Given the description of an element on the screen output the (x, y) to click on. 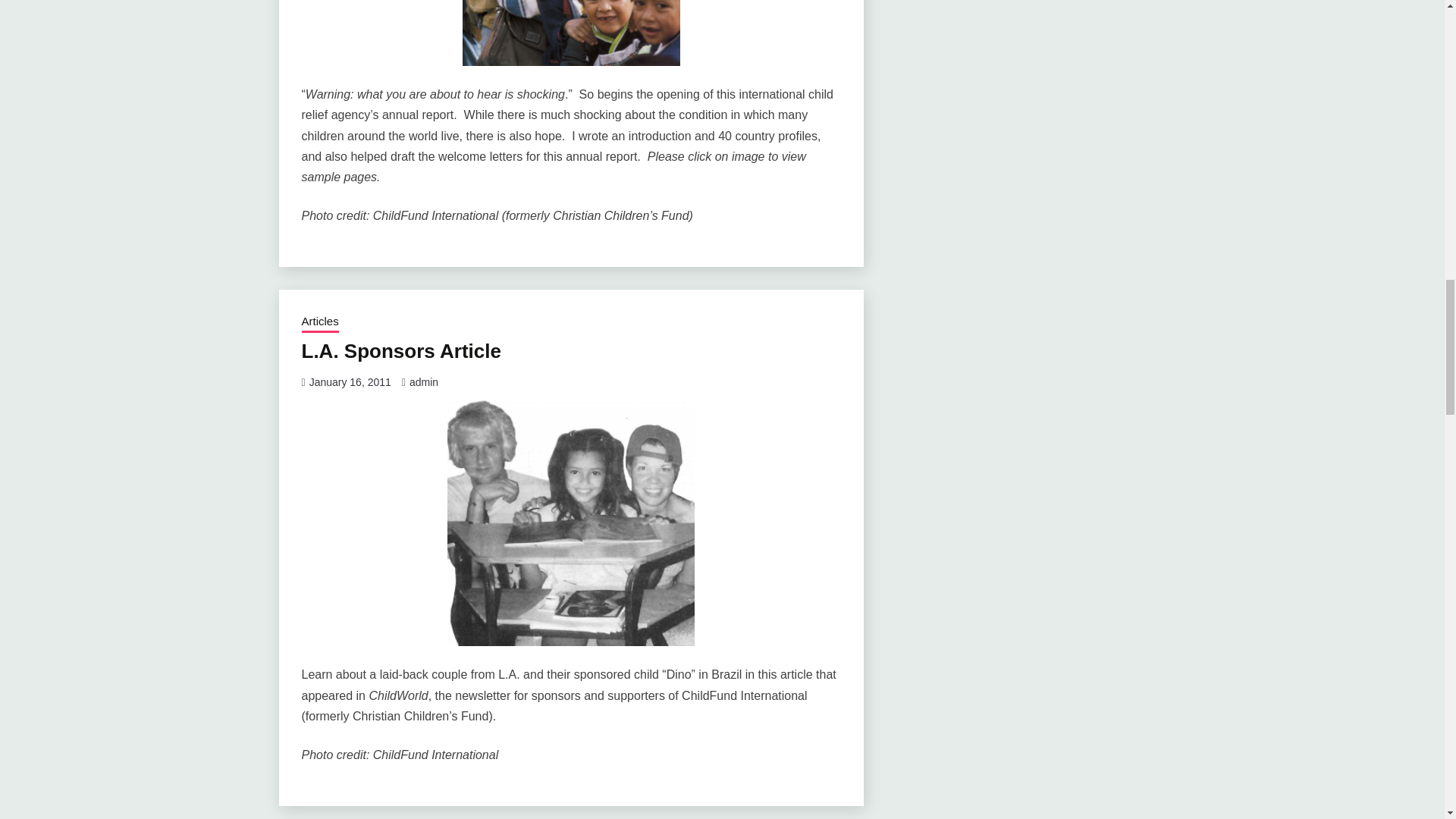
Articles (320, 322)
sponsors-cover (570, 522)
admin (423, 381)
L.A. Sponsors Article (400, 350)
January 16, 2011 (349, 381)
